Given the description of an element on the screen output the (x, y) to click on. 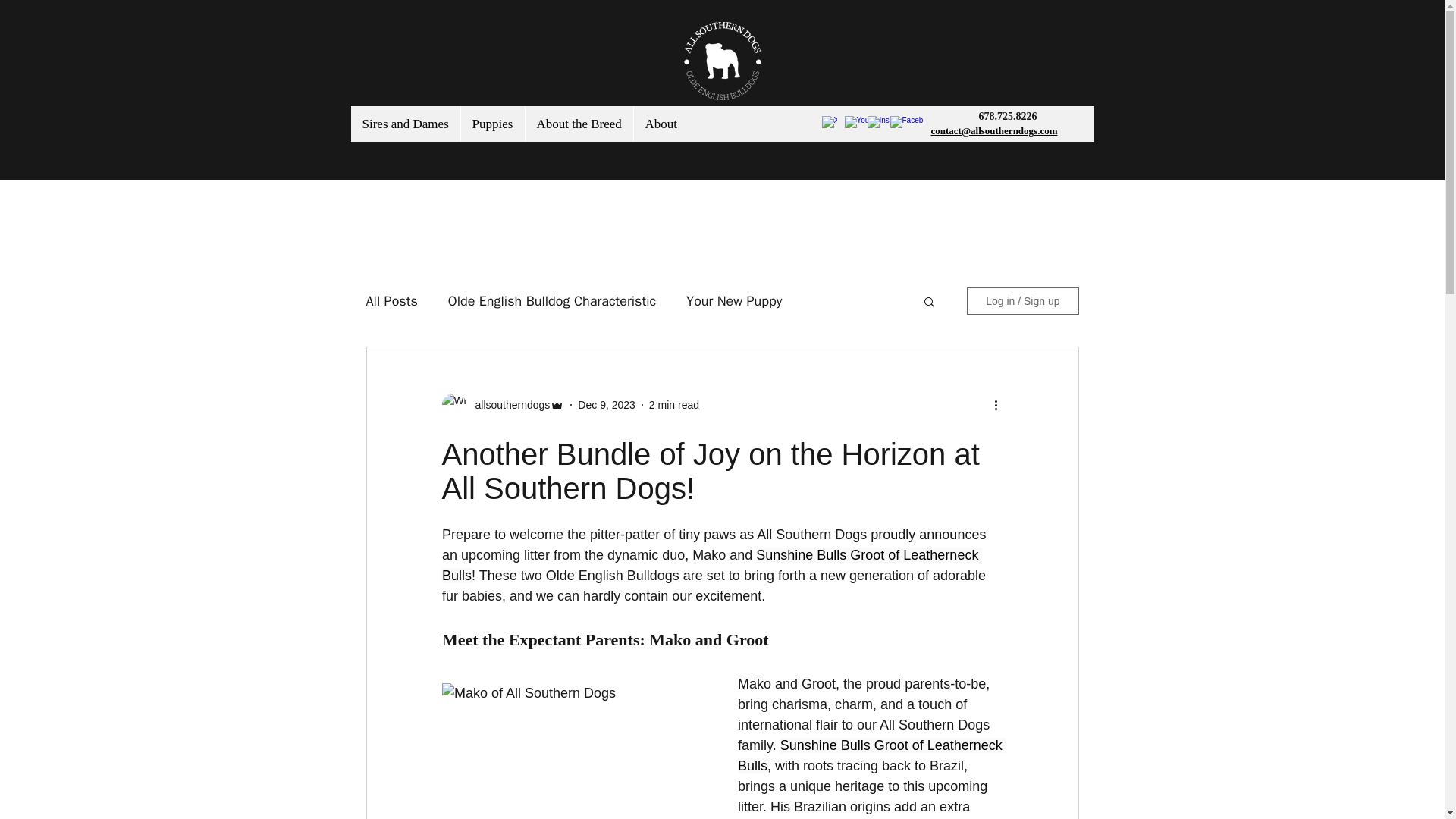
Olde English Bulldog Characteristic (552, 300)
Dec 9, 2023 (606, 404)
All Posts (390, 300)
Your New Puppy (733, 300)
About (659, 123)
678.725.8226 (1007, 115)
Sires and Dames (405, 123)
allsoutherndogs (507, 405)
About the Breed (578, 123)
Puppies (492, 123)
